Given the description of an element on the screen output the (x, y) to click on. 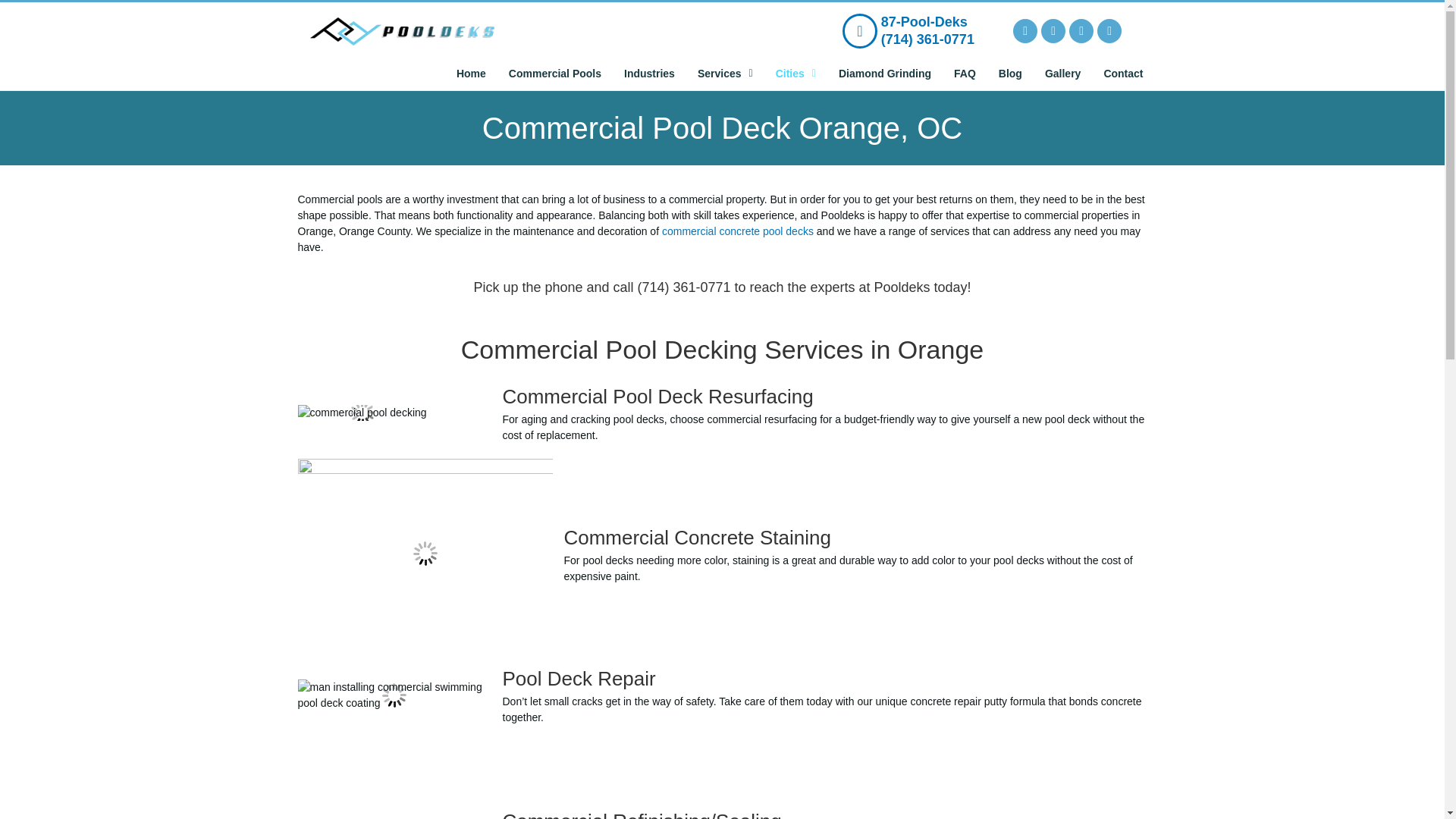
Twitter (1053, 30)
Commercial Pools (554, 73)
Home (471, 73)
87-Pool-Deks (924, 21)
Facebook (1024, 30)
Linkedin (1109, 30)
Youtube (1080, 30)
